Given the description of an element on the screen output the (x, y) to click on. 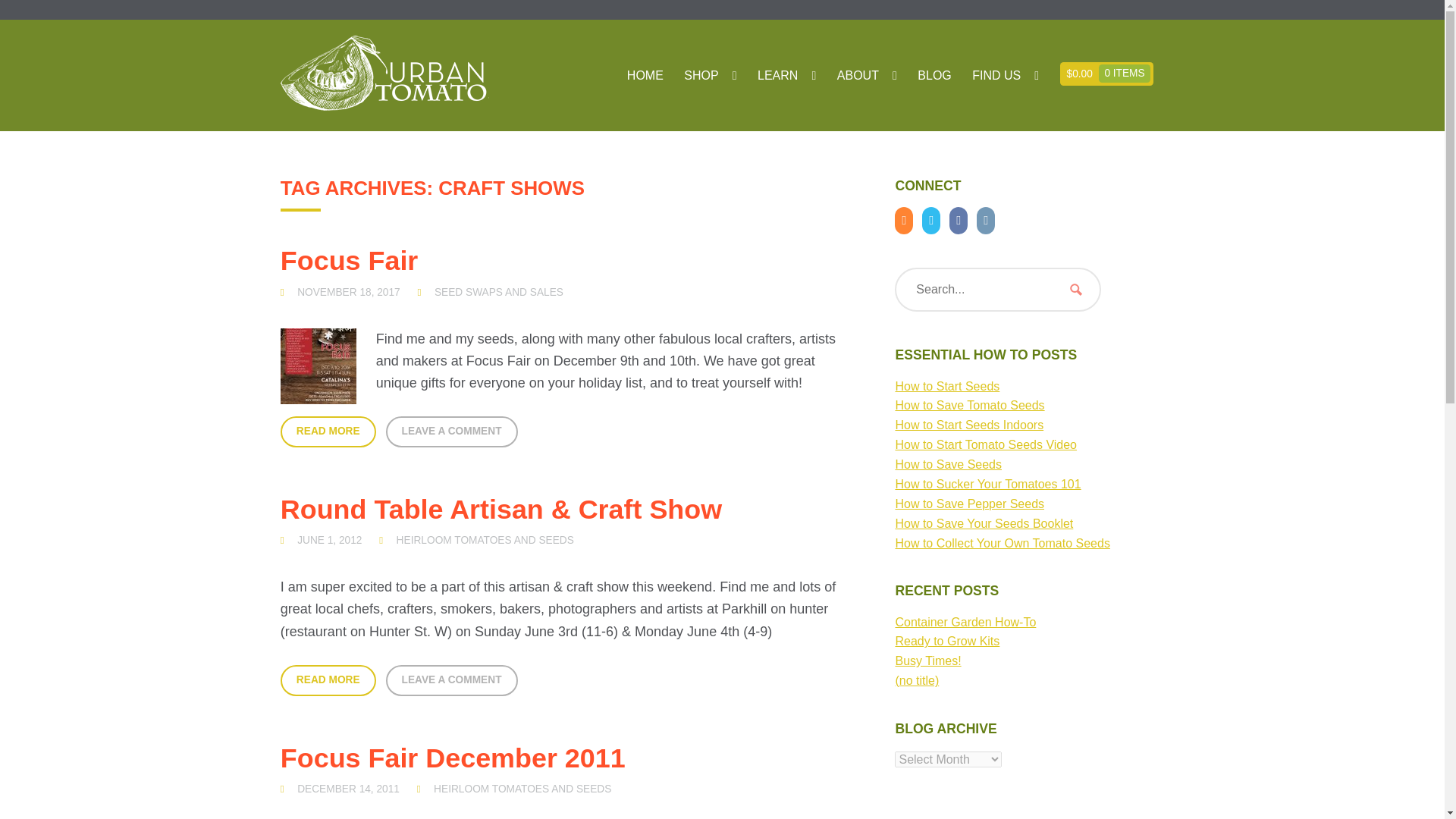
READ MORE (328, 680)
Focus Fair (348, 292)
Read More (328, 431)
RSS (906, 220)
LEAVE A COMMENT (451, 431)
SHOP (710, 76)
BLOG (933, 76)
HEIRLOOM TOMATOES AND SEEDS (484, 540)
LEARN (786, 76)
Focus Fair (350, 260)
